Given the description of an element on the screen output the (x, y) to click on. 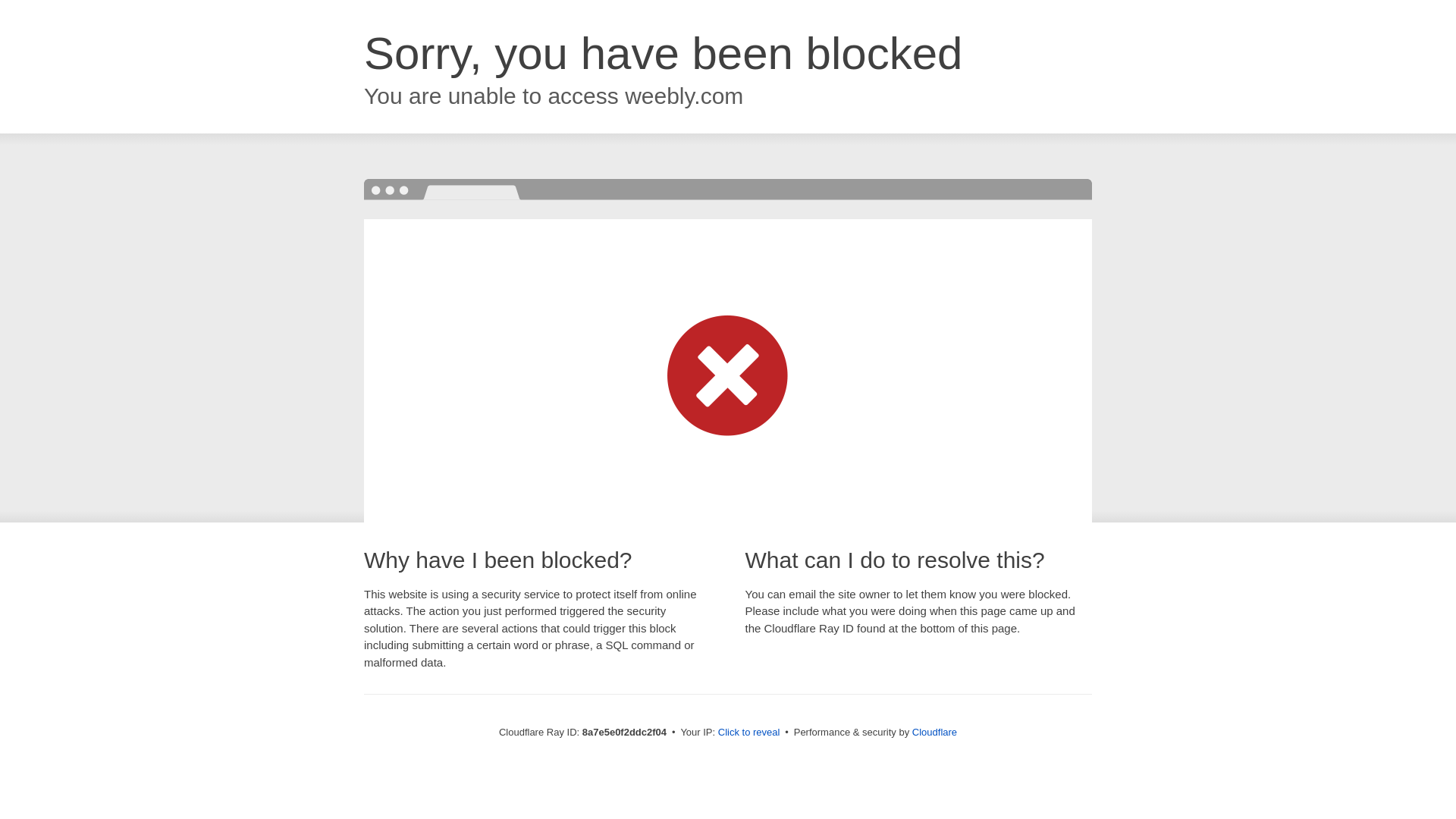
Cloudflare (934, 731)
Click to reveal (748, 732)
